Given the description of an element on the screen output the (x, y) to click on. 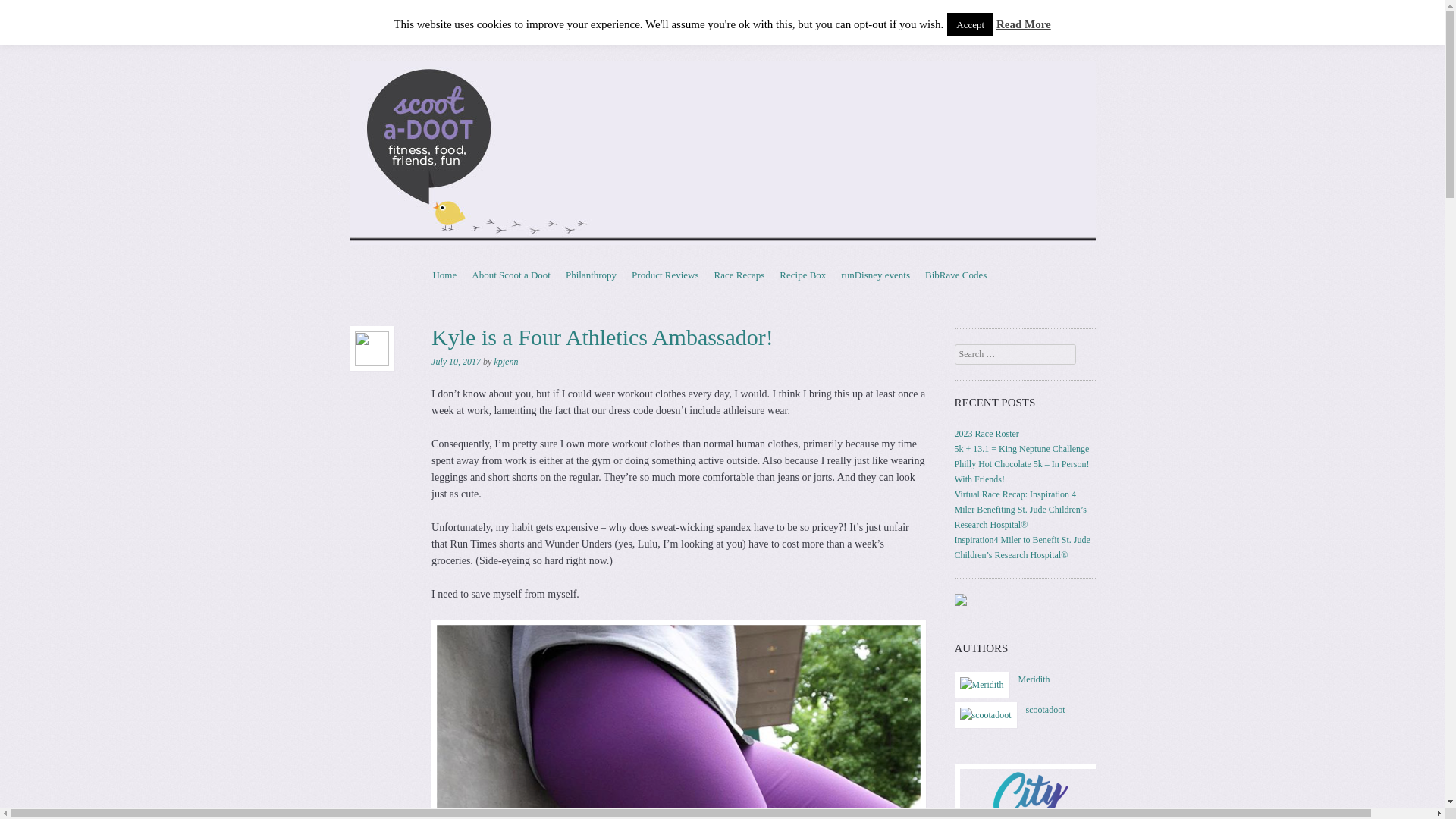
Meridith (982, 684)
July 10, 2017 (455, 361)
Scootadoot (507, 55)
Philanthropy (590, 274)
Skip to content (462, 274)
Recipe Box (801, 274)
runDisney events (874, 274)
kpjenn (505, 361)
Race Recaps (739, 274)
7:26 am (455, 361)
Skip to content (462, 274)
About Scoot a Doot (510, 274)
Scootadoot (507, 55)
View all posts by kpjenn (505, 361)
